Given the description of an element on the screen output the (x, y) to click on. 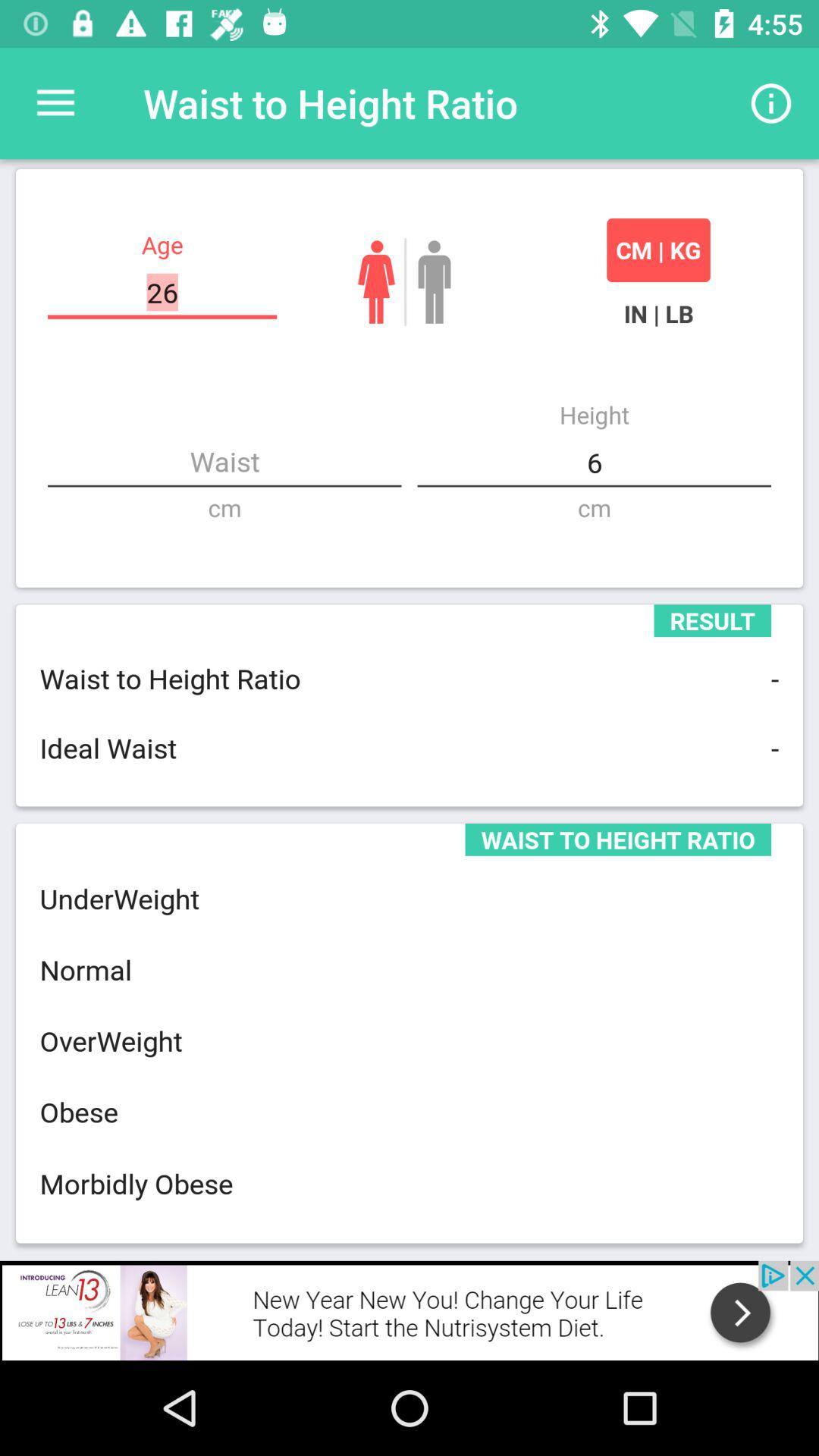
advertisement (409, 1310)
